Given the description of an element on the screen output the (x, y) to click on. 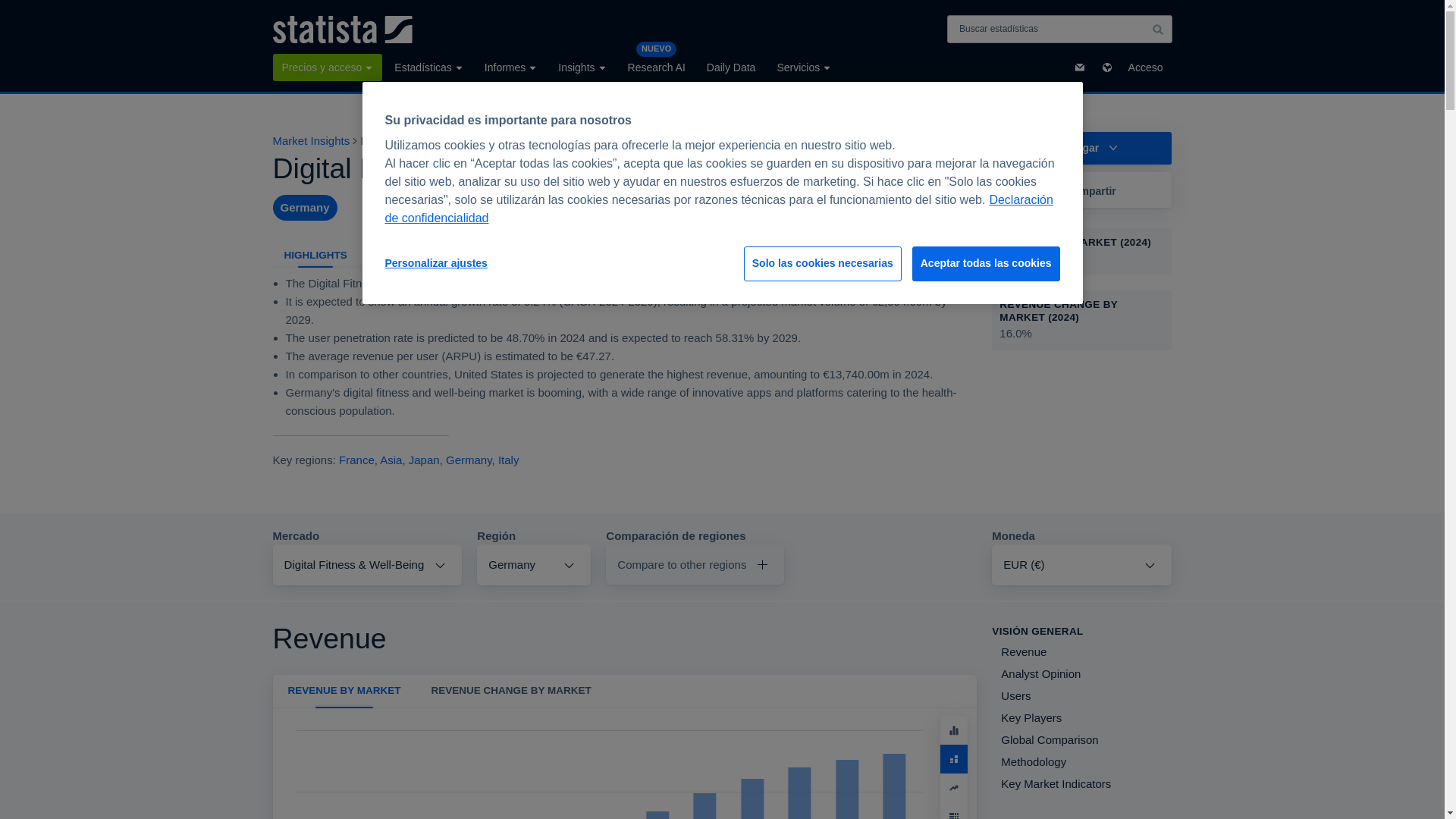
Ir al contenido principal (12, 9)
Informes (511, 67)
Acceso (1145, 67)
Acceso (1145, 67)
Buscar contenidos (1157, 28)
Precios y acceso (327, 67)
